Given the description of an element on the screen output the (x, y) to click on. 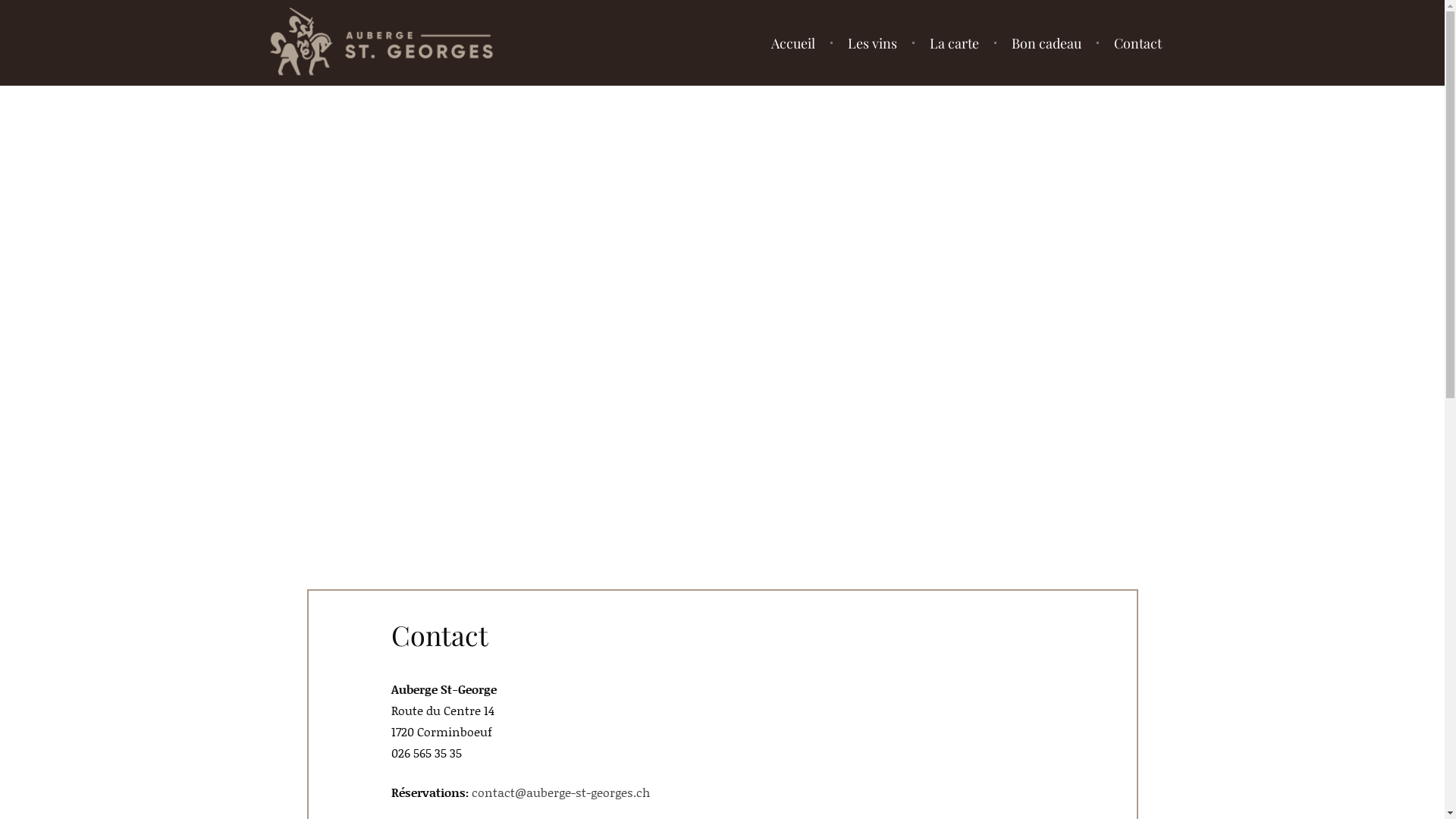
Les vins Element type: text (872, 42)
Contact Element type: text (1137, 42)
La carte Element type: text (954, 42)
contact@auberge-st-georges.ch Element type: text (560, 791)
Accueil Element type: text (793, 42)
Bon cadeau Element type: text (1046, 42)
